Given the description of an element on the screen output the (x, y) to click on. 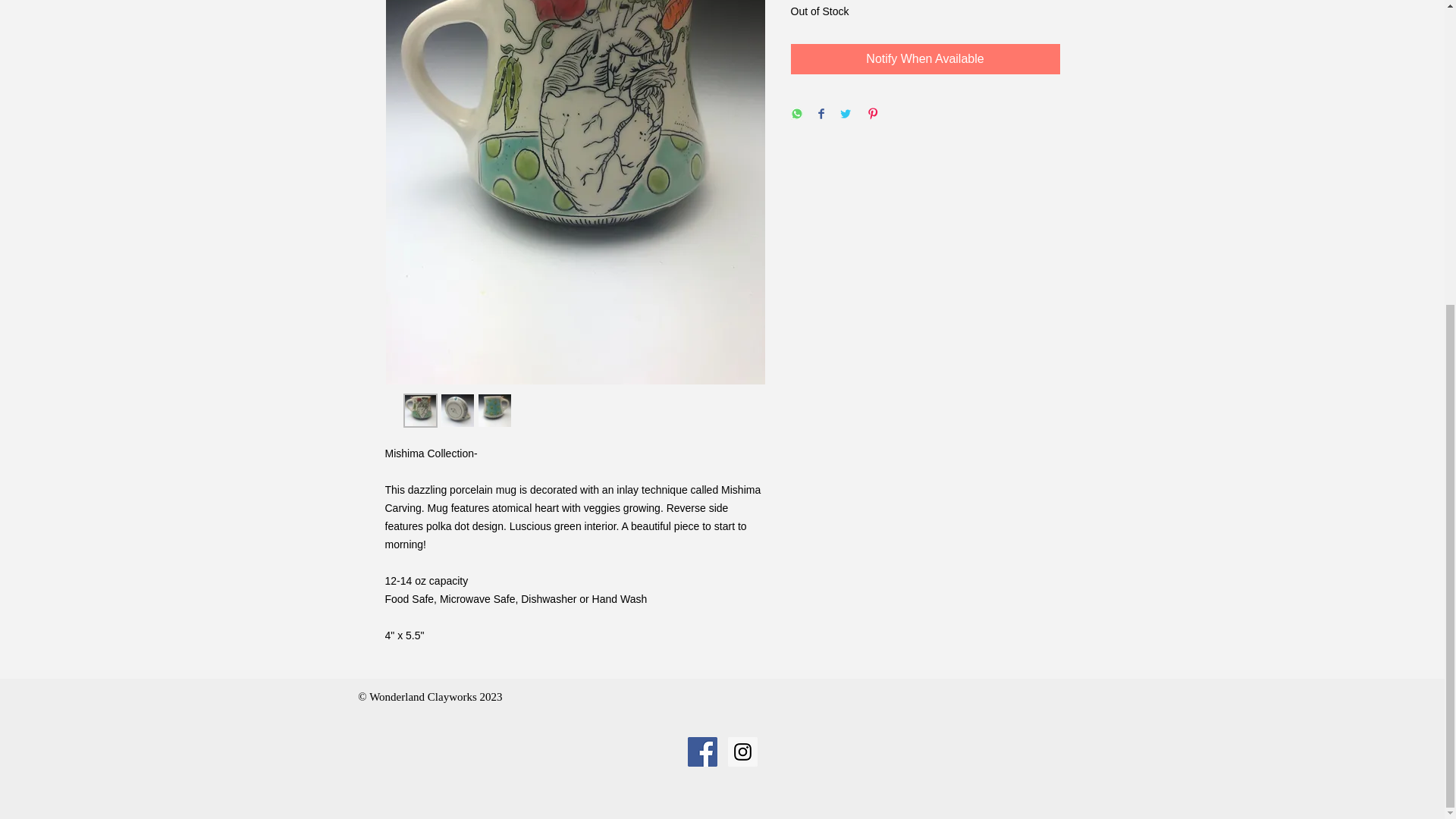
Notify When Available (924, 59)
